Given the description of an element on the screen output the (x, y) to click on. 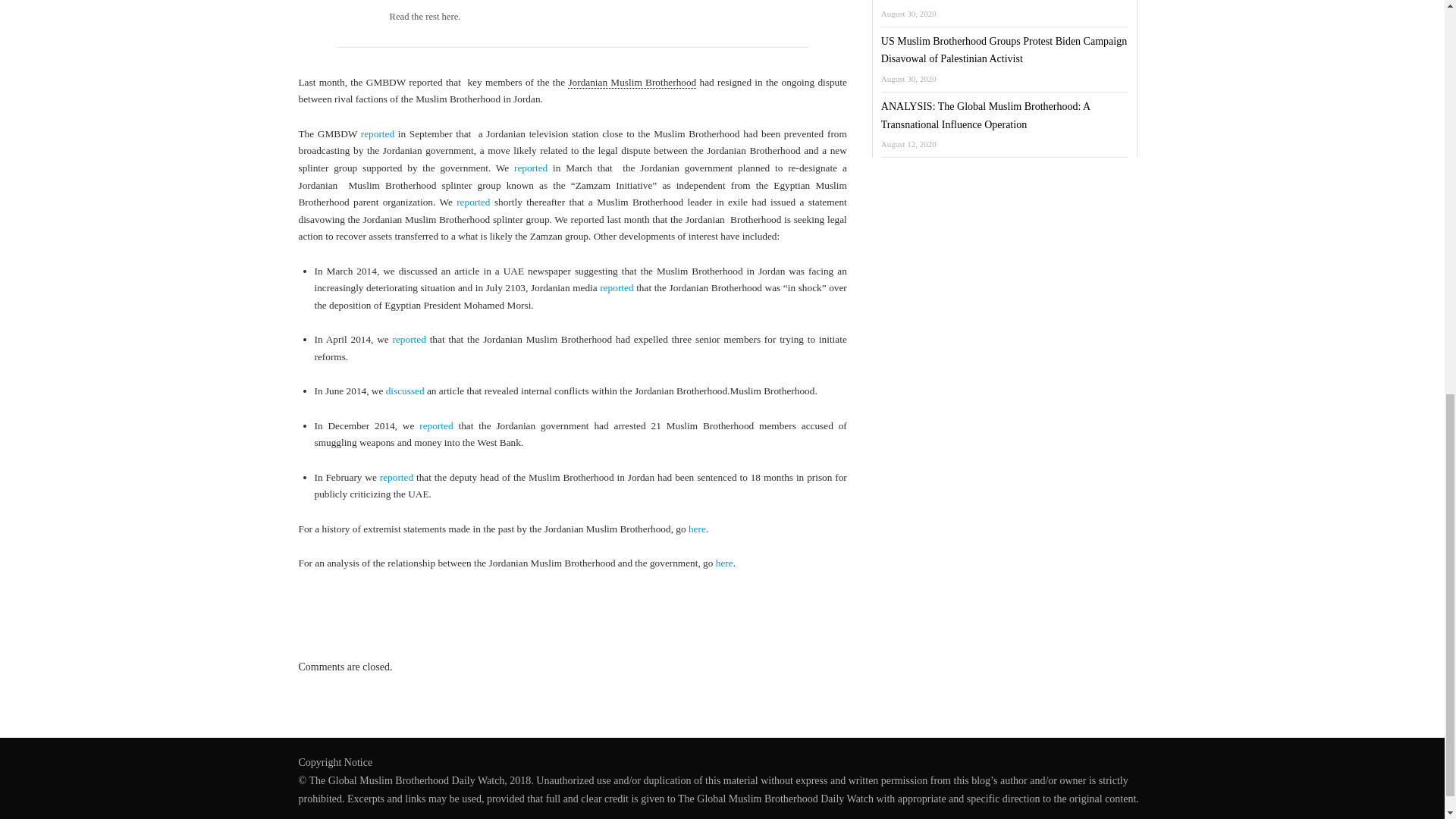
reported (530, 167)
discussed (405, 390)
reported (409, 338)
reported (396, 477)
reported (616, 287)
here (724, 562)
reported (435, 425)
here (697, 528)
reported (377, 133)
reported (473, 202)
Jordanian Muslim Brotherhood (631, 82)
